Given the description of an element on the screen output the (x, y) to click on. 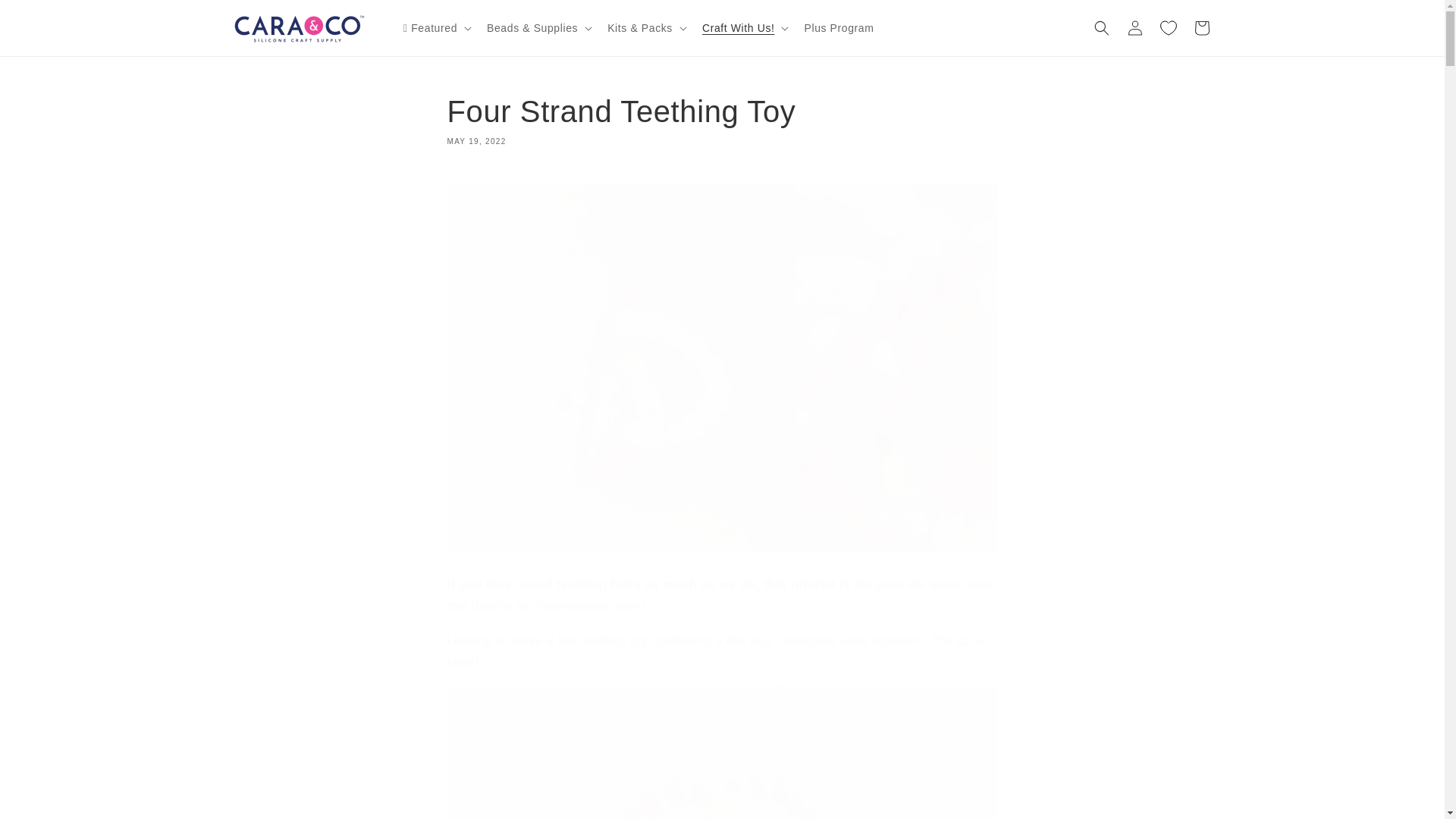
SKIP TO CONTENT (721, 120)
